Given the description of an element on the screen output the (x, y) to click on. 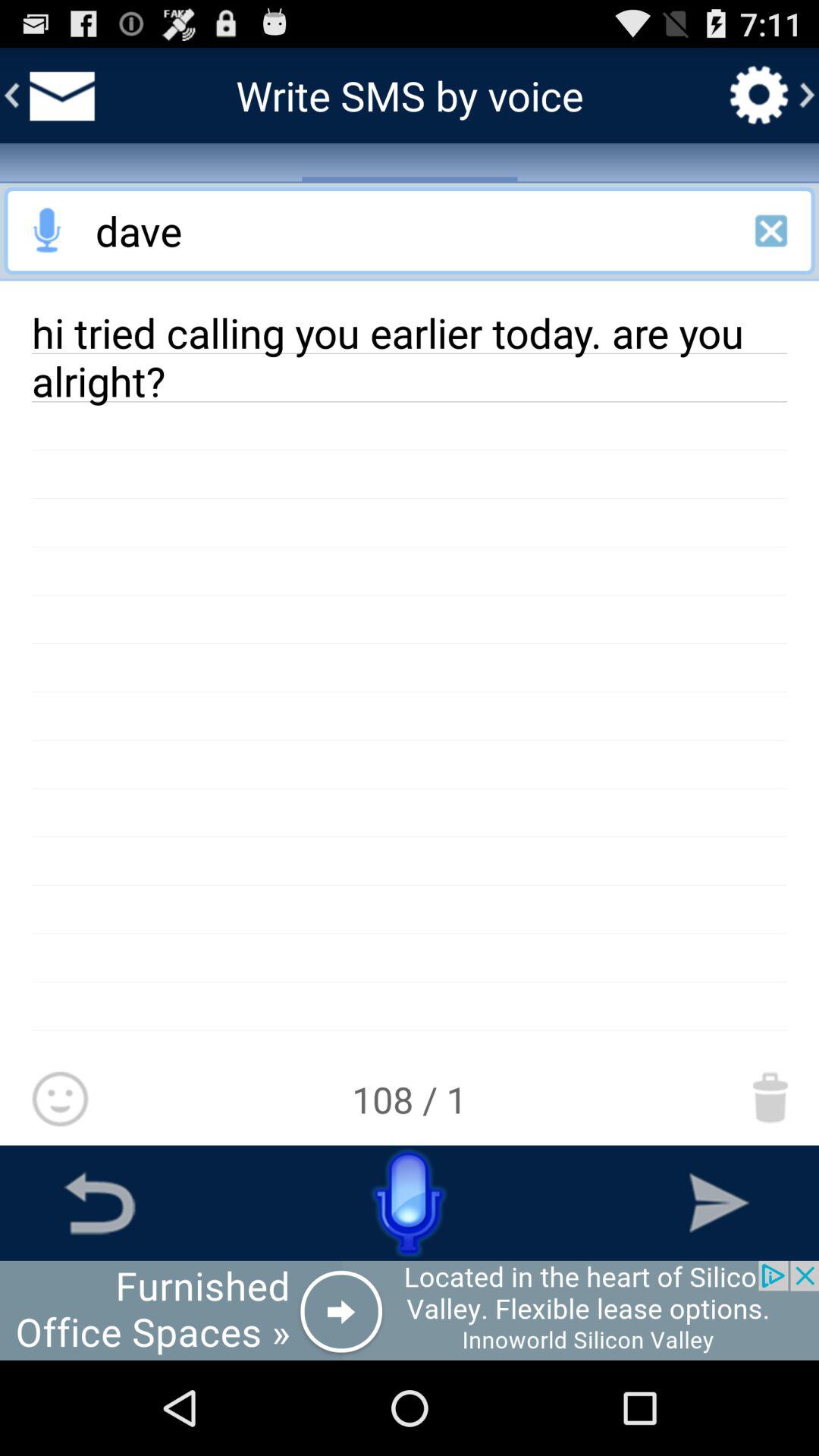
go to settings (759, 95)
